Given the description of an element on the screen output the (x, y) to click on. 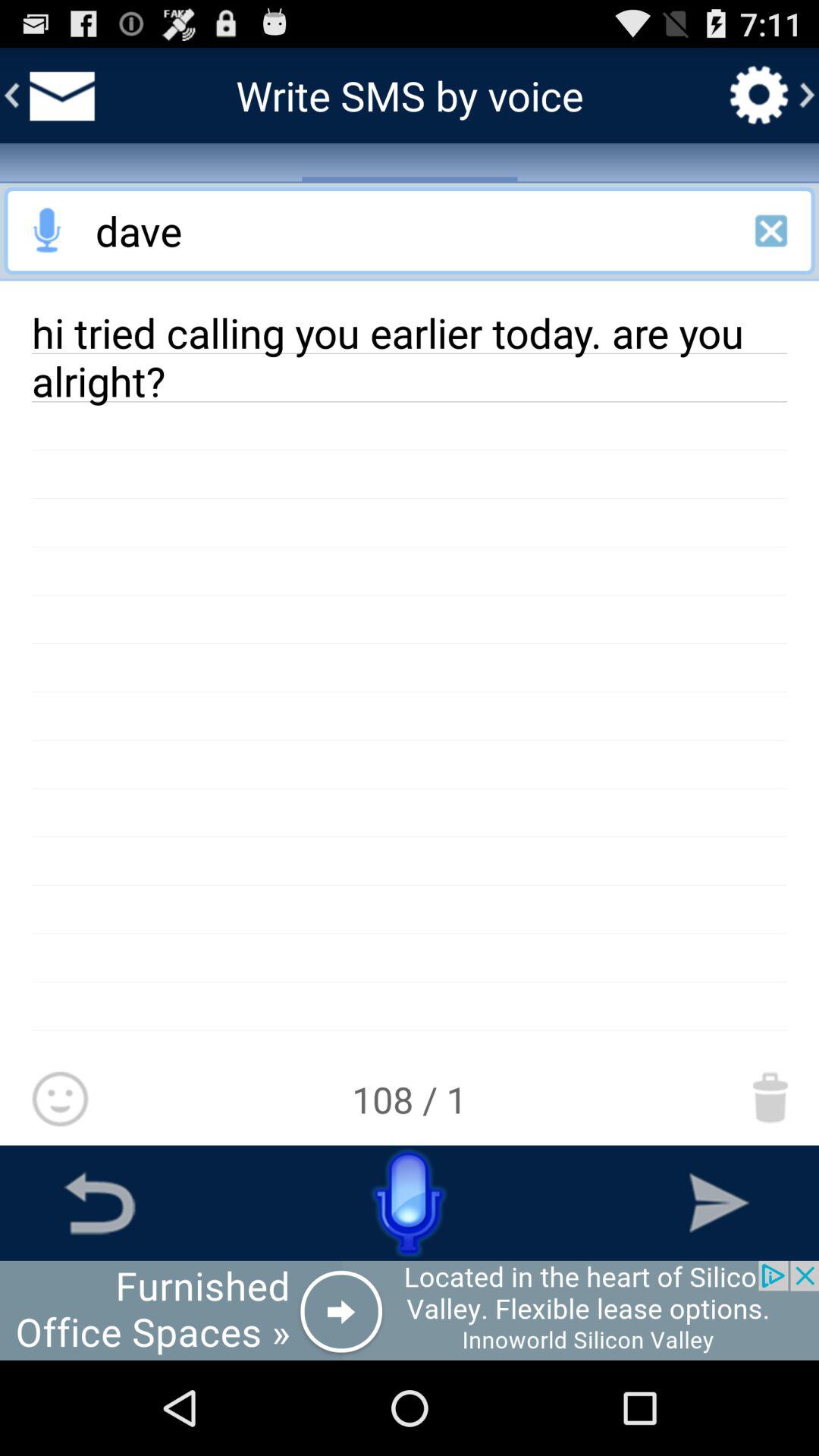
go to settings (759, 95)
